Given the description of an element on the screen output the (x, y) to click on. 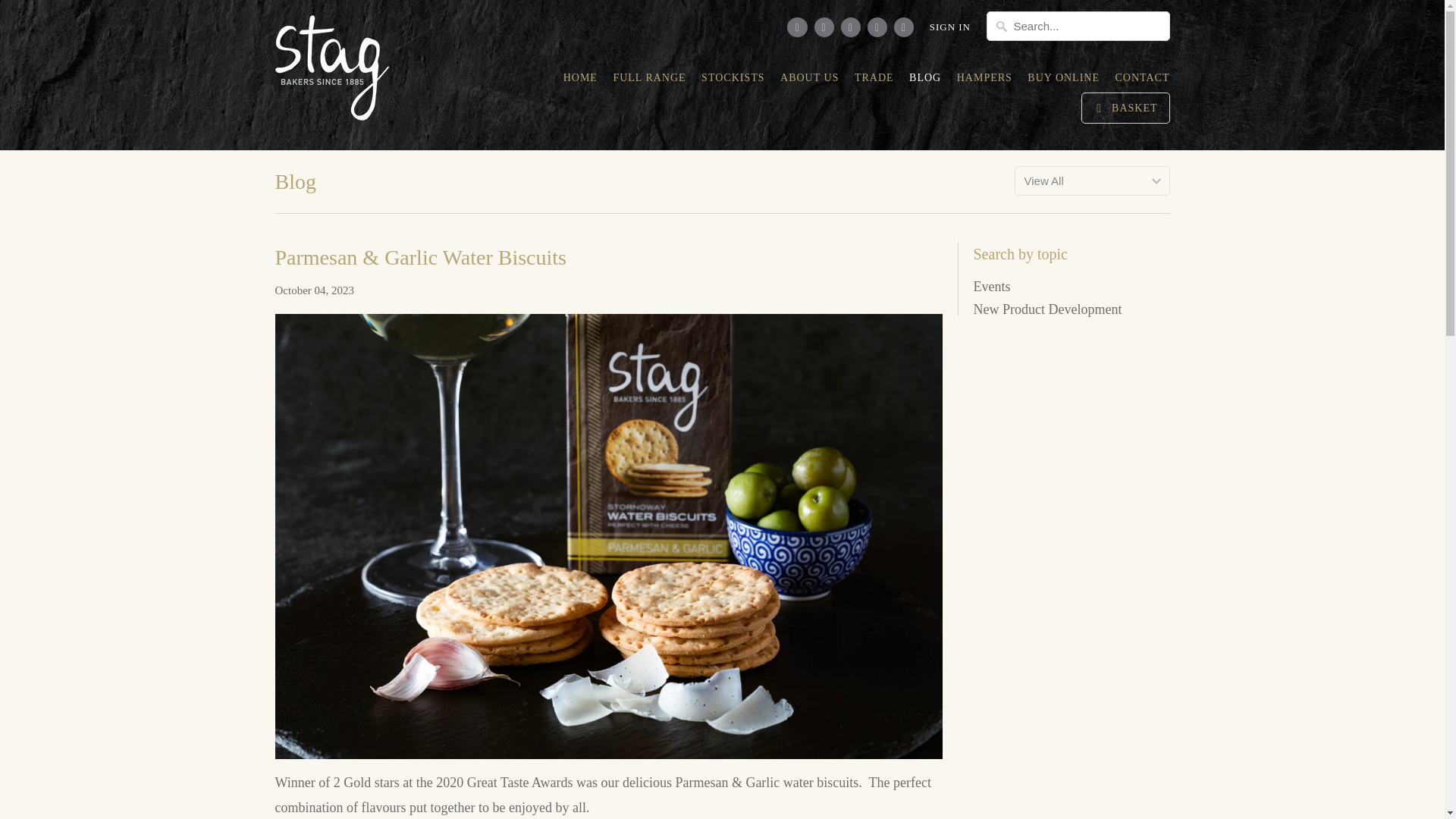
HAMPERS (983, 81)
Stag Bakeries on Facebook (823, 26)
STOCKISTS (732, 81)
CONTACT (1142, 81)
FULL RANGE (648, 81)
BASKET (1125, 107)
Basket (1125, 107)
SIGN IN (950, 30)
ABOUT US (809, 81)
HOME (579, 81)
Email Stag Bakeries (903, 26)
Stag Bakeries (342, 74)
Blog (295, 181)
Stag Bakeries on LinkedIn (850, 26)
BUY ONLINE (1063, 81)
